Given the description of an element on the screen output the (x, y) to click on. 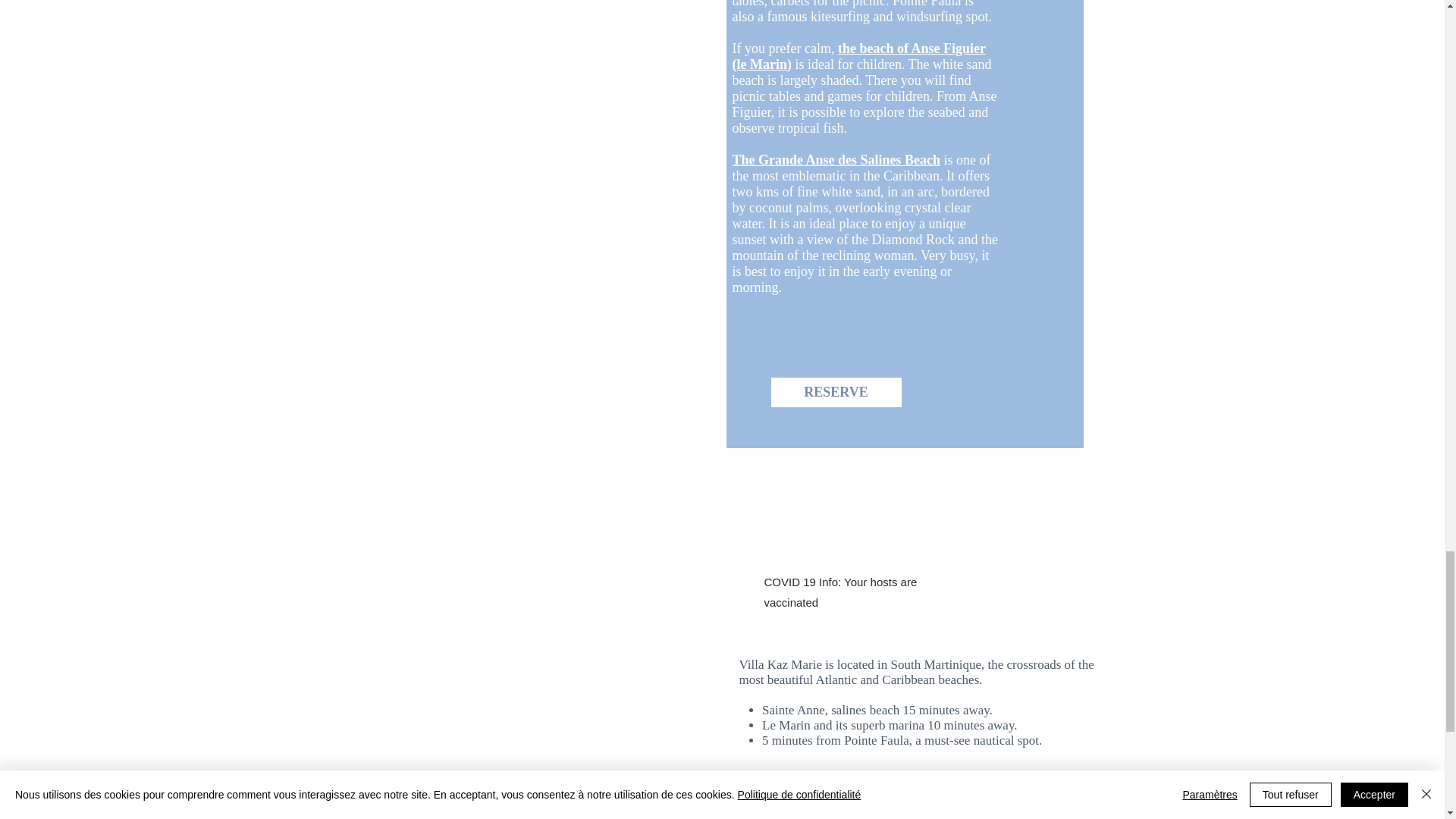
RESERVE (835, 392)
